Given the description of an element on the screen output the (x, y) to click on. 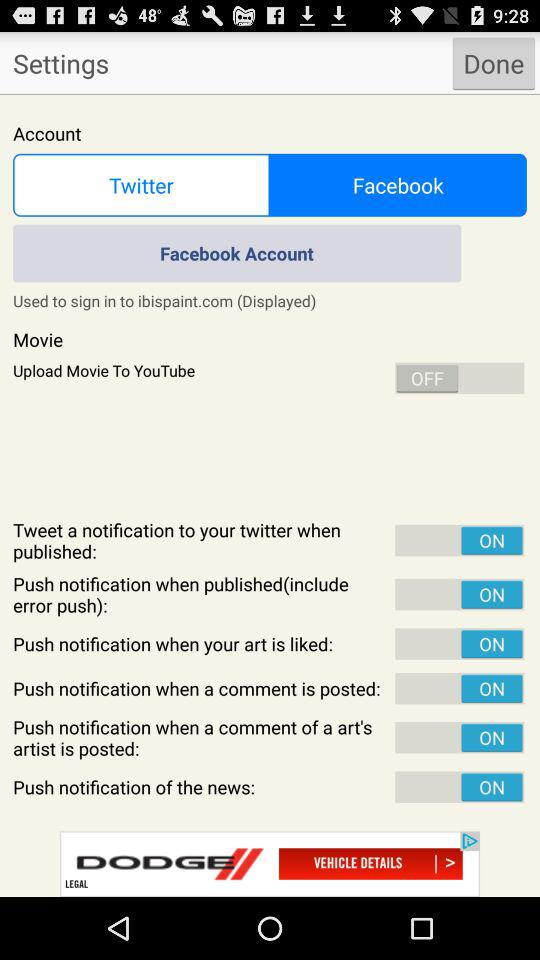
description (270, 495)
